Given the description of an element on the screen output the (x, y) to click on. 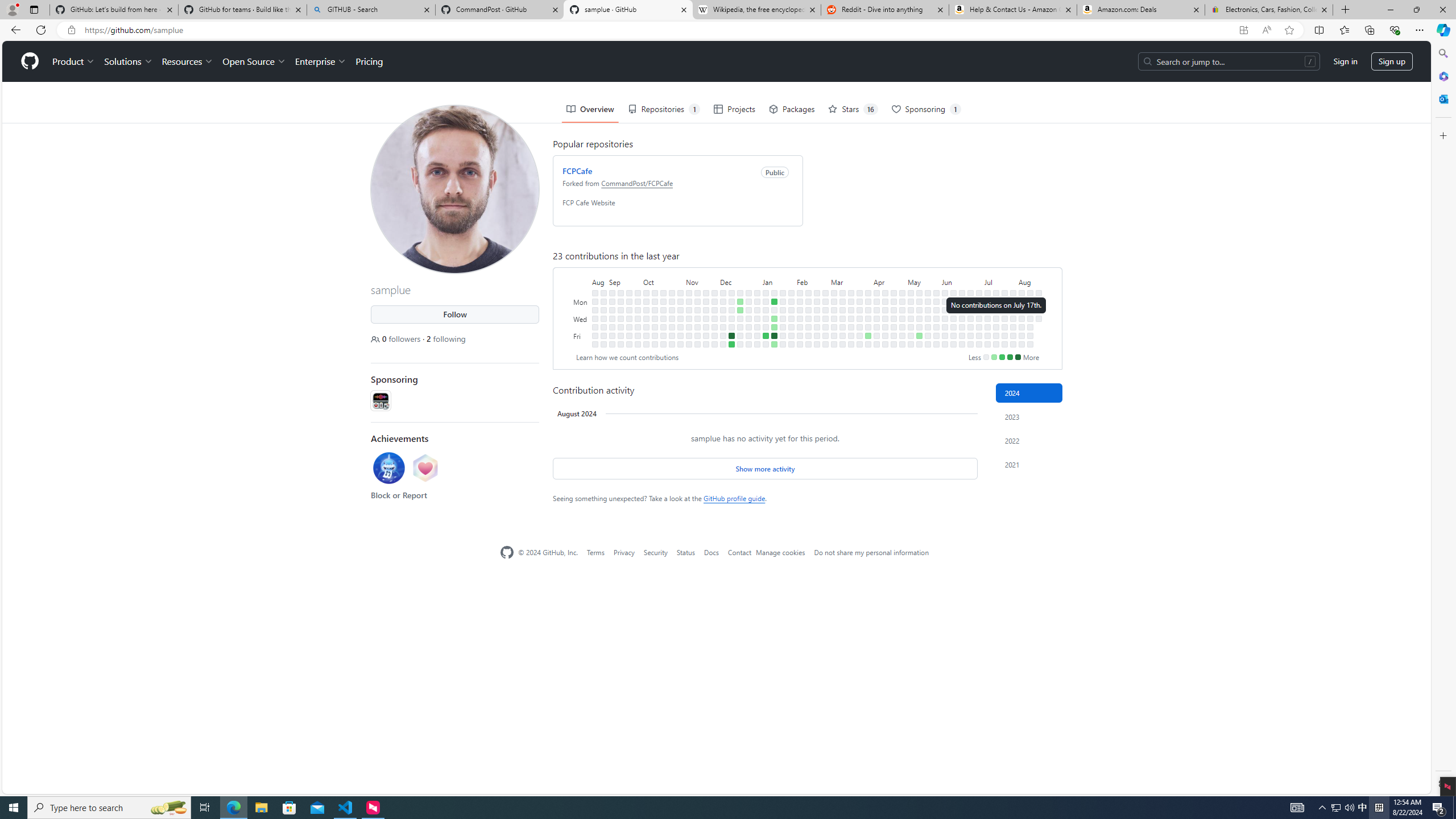
No contributions on May 9th. (910, 326)
No contributions on August 28th. (603, 301)
Contribution activity in 2021 (1028, 464)
2023 (1028, 416)
No contributions on June 18th. (962, 309)
No contributions on February 22nd. (816, 326)
No contributions on July 20th. (995, 343)
Sign up (1391, 61)
Status (684, 552)
No contributions on January 4th. (757, 326)
No contributions on August 30th. (603, 318)
No contributions on May 3rd. (902, 335)
No contributions on June 21st. (962, 335)
No contributions on April 24th. (893, 318)
